Given the description of an element on the screen output the (x, y) to click on. 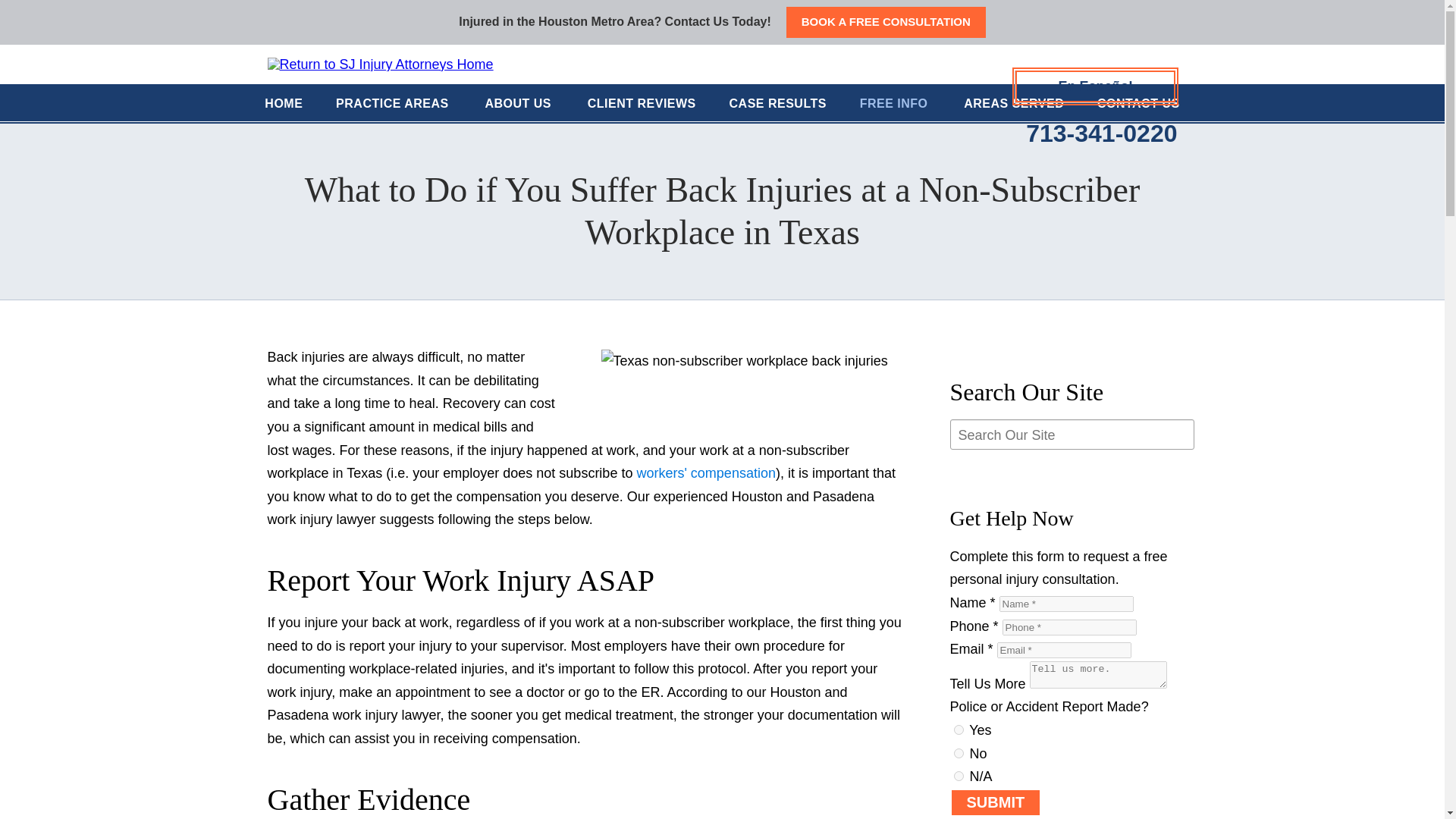
BOOK A FREE CONSULTATION (885, 21)
PRACTICE AREAS (392, 104)
HOME (284, 104)
CASE RESULTS (778, 104)
AREAS SERVED (1013, 104)
CLIENT REVIEWS (641, 104)
FREE INFO (895, 104)
CONTACT US (1137, 104)
workers' compensation (706, 473)
Yes (958, 729)
